Given the description of an element on the screen output the (x, y) to click on. 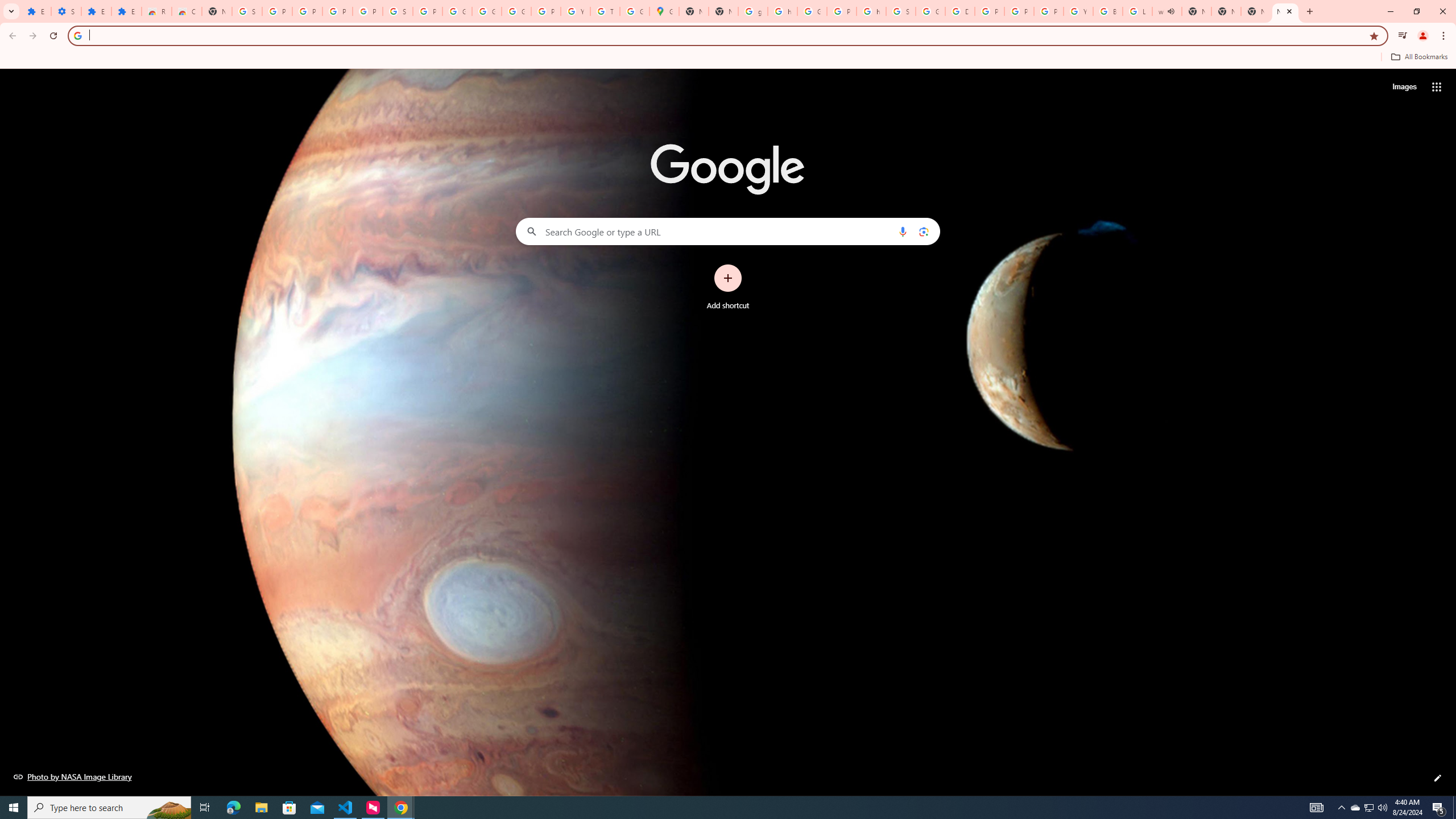
YouTube (1077, 11)
New Tab (723, 11)
Extensions (36, 11)
